Given the description of an element on the screen output the (x, y) to click on. 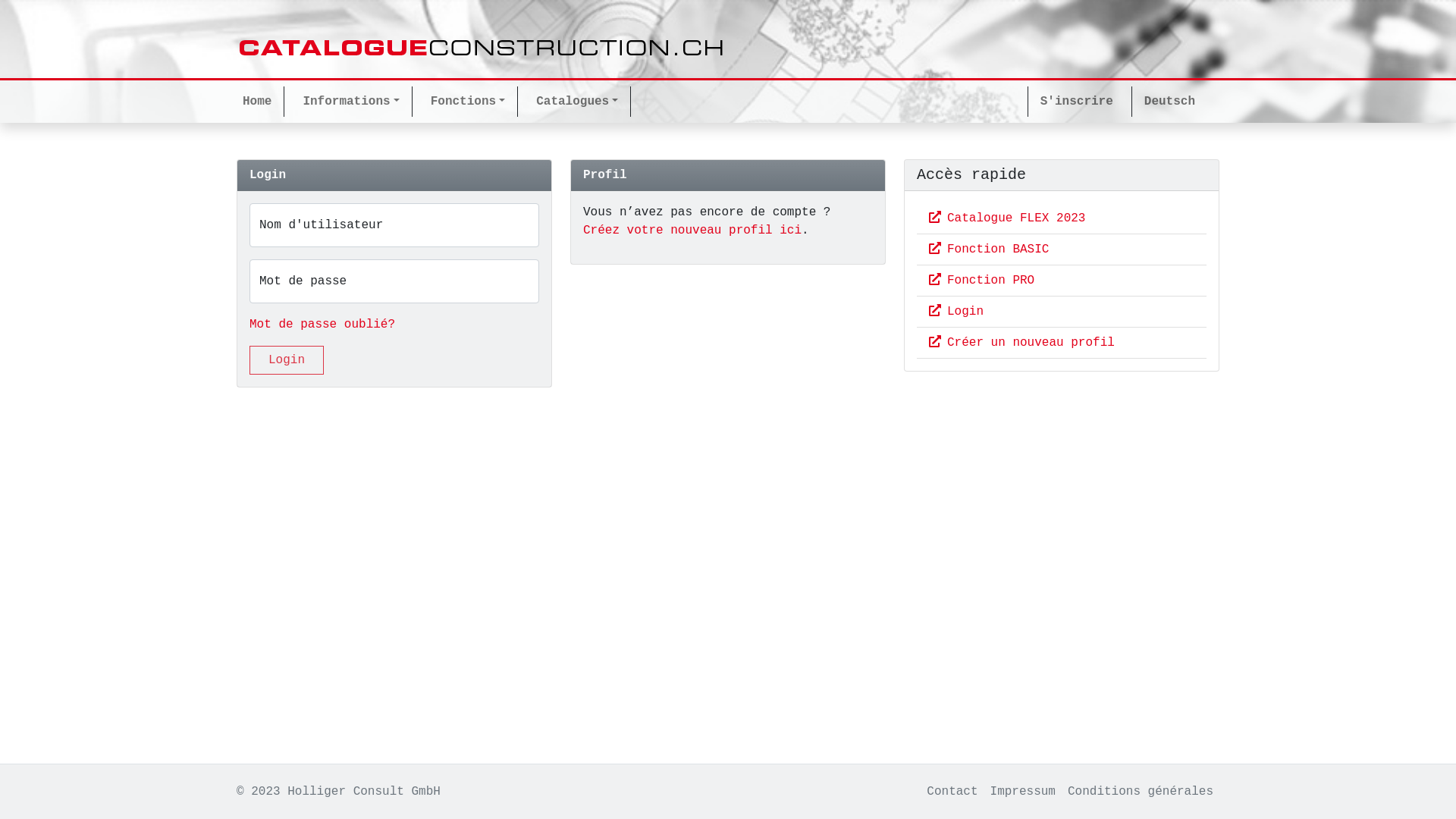
Catalogconstruction Element type: hover (481, 47)
Fonctions Element type: text (470, 101)
Home Element type: text (259, 101)
Login Element type: text (286, 359)
Informations Element type: text (353, 101)
Impressum Element type: text (1022, 791)
Fonction BASIC Element type: text (988, 249)
Deutsch Element type: text (1166, 101)
Contact Element type: text (951, 791)
Fonction PRO Element type: text (981, 280)
S'inscrire Element type: text (1073, 101)
Login Element type: text (955, 311)
Catalogue FLEX 2023 Element type: text (1006, 218)
Catalogues Element type: text (580, 101)
